Given the description of an element on the screen output the (x, y) to click on. 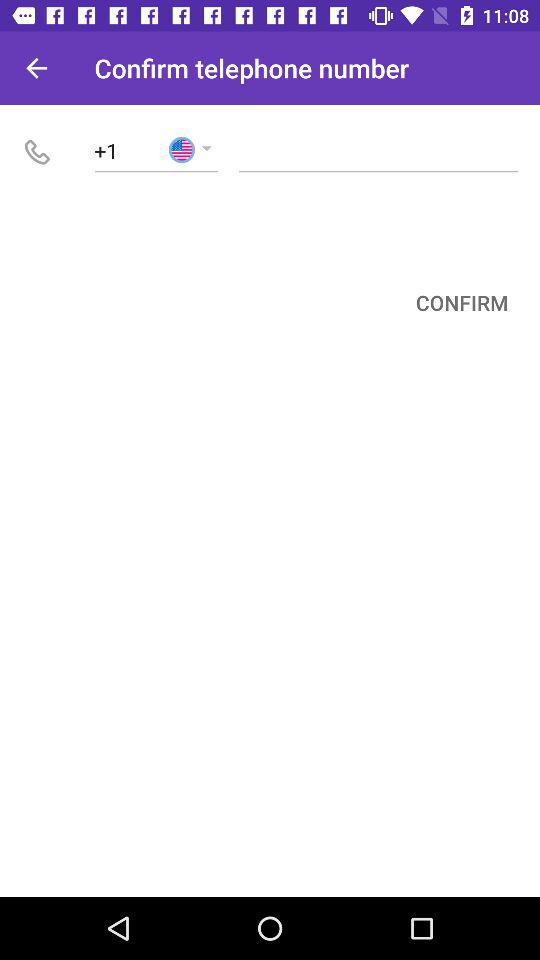
telephone number input box (378, 150)
